Given the description of an element on the screen output the (x, y) to click on. 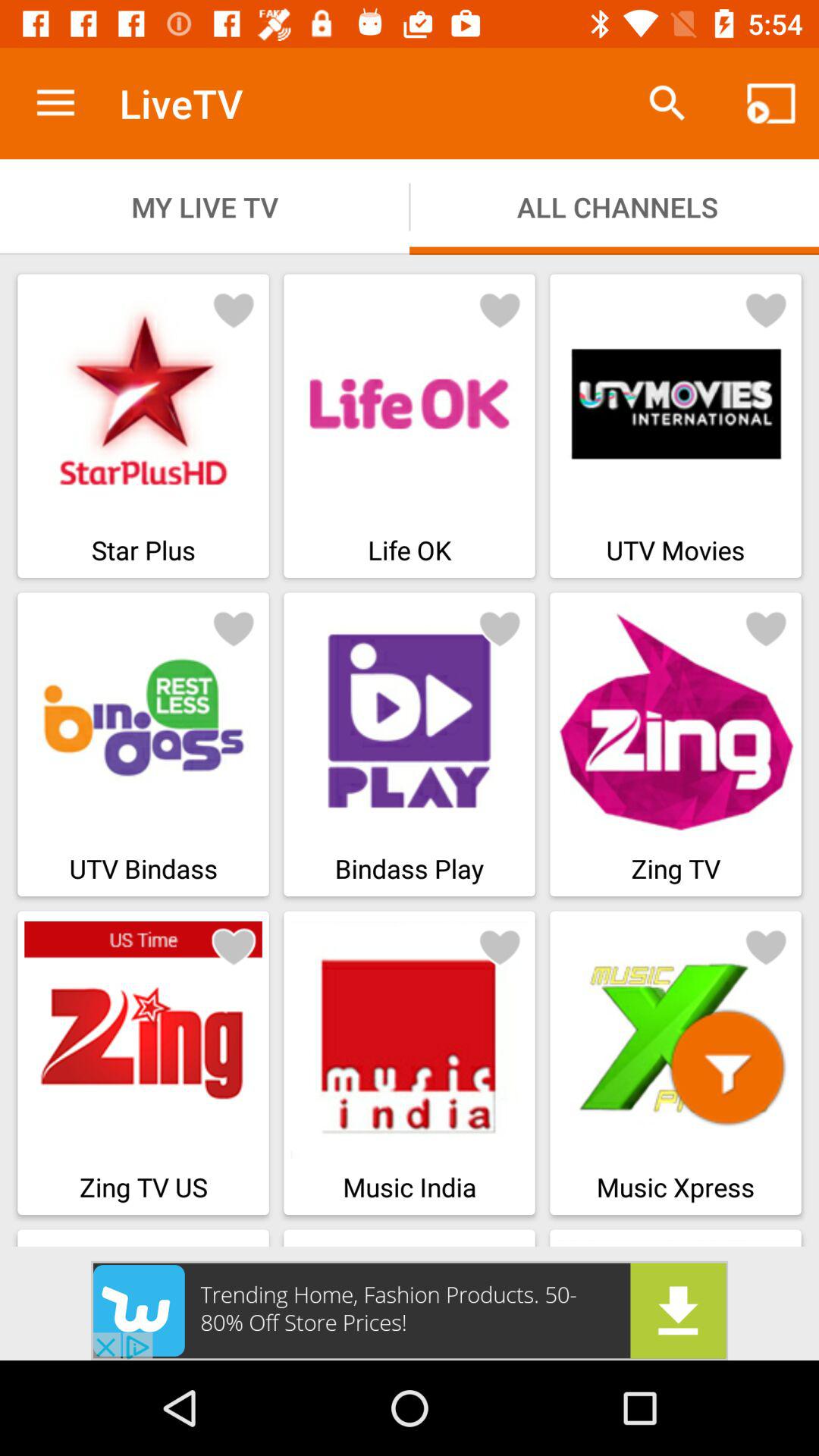
to add in favourite channel (233, 946)
